Given the description of an element on the screen output the (x, y) to click on. 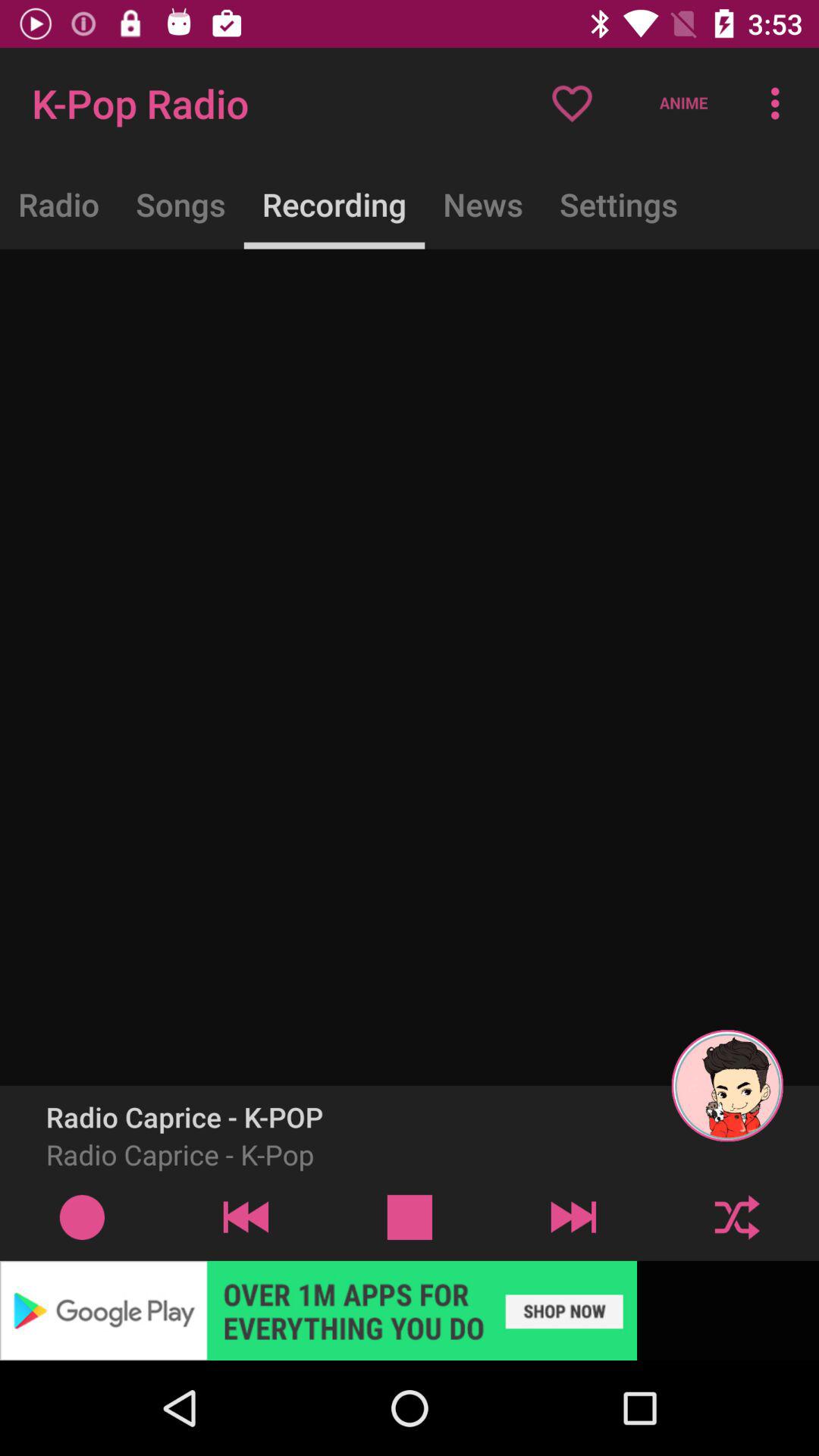
advertisement banner (409, 1310)
